Given the description of an element on the screen output the (x, y) to click on. 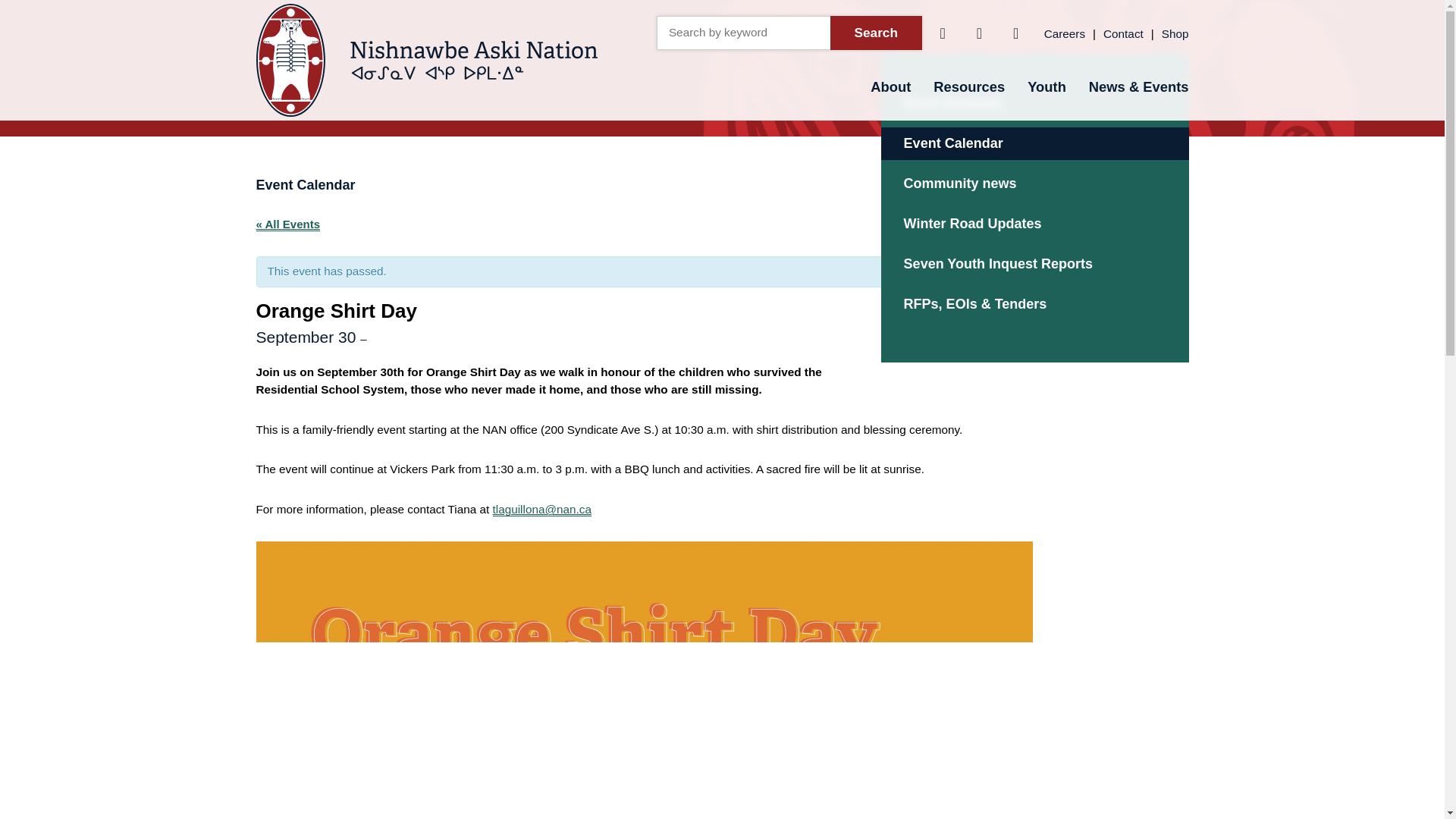
Contact (1122, 33)
Winter Road Updates (1034, 224)
News Releases (1034, 102)
instagram (1016, 31)
About (890, 86)
facebook (942, 31)
Search (875, 32)
Youth (1046, 86)
Event Calendar (1034, 143)
Seven Youth Inquest Reports (1034, 264)
twitter (978, 31)
Resources (968, 86)
Community news (1034, 183)
Shop (1175, 33)
Careers (1063, 33)
